Given the description of an element on the screen output the (x, y) to click on. 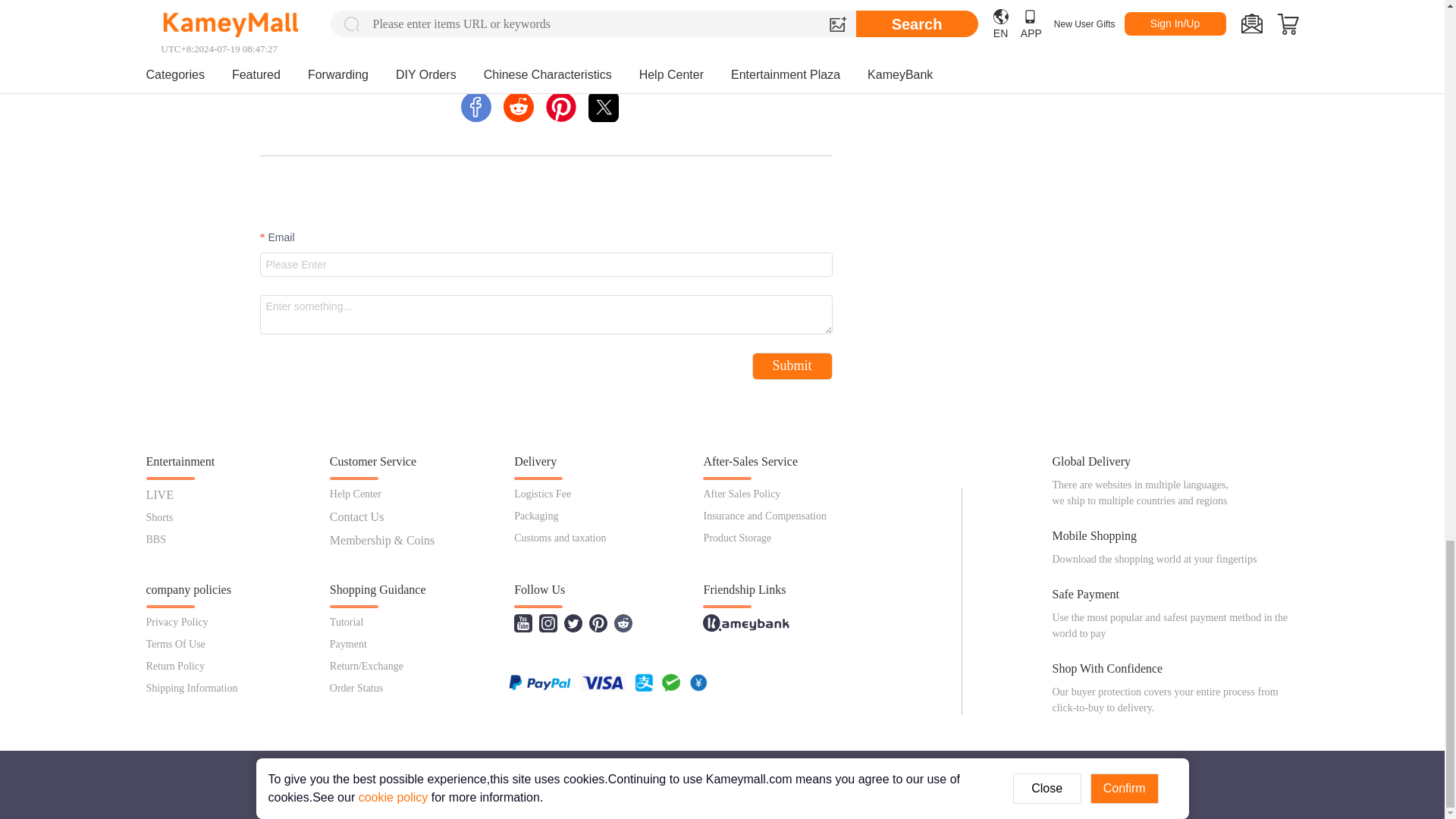
2022 (279, 0)
Submit (545, 68)
Created with Pixso. (792, 366)
